Given the description of an element on the screen output the (x, y) to click on. 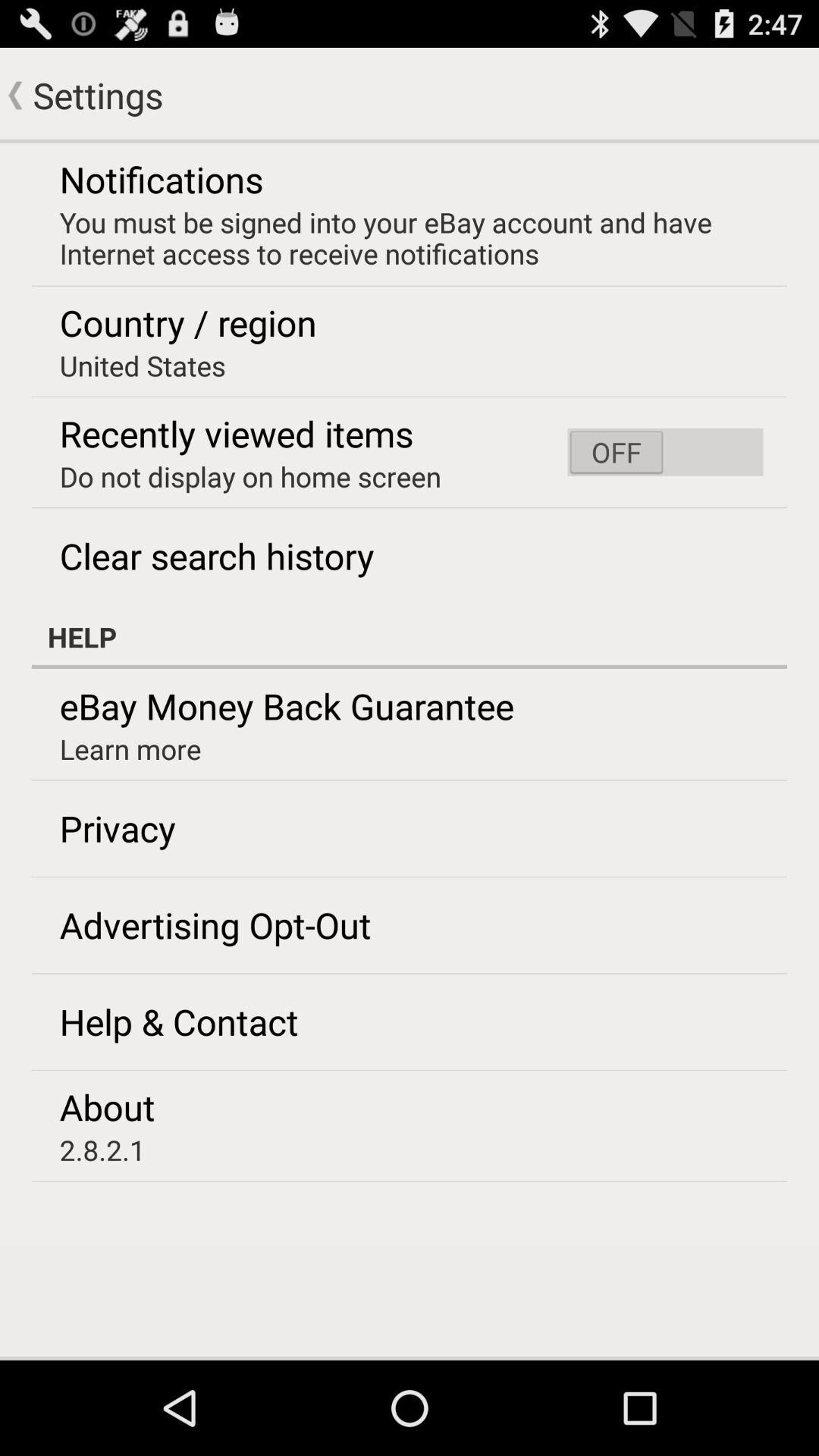
open the item above the about (178, 1021)
